Given the description of an element on the screen output the (x, y) to click on. 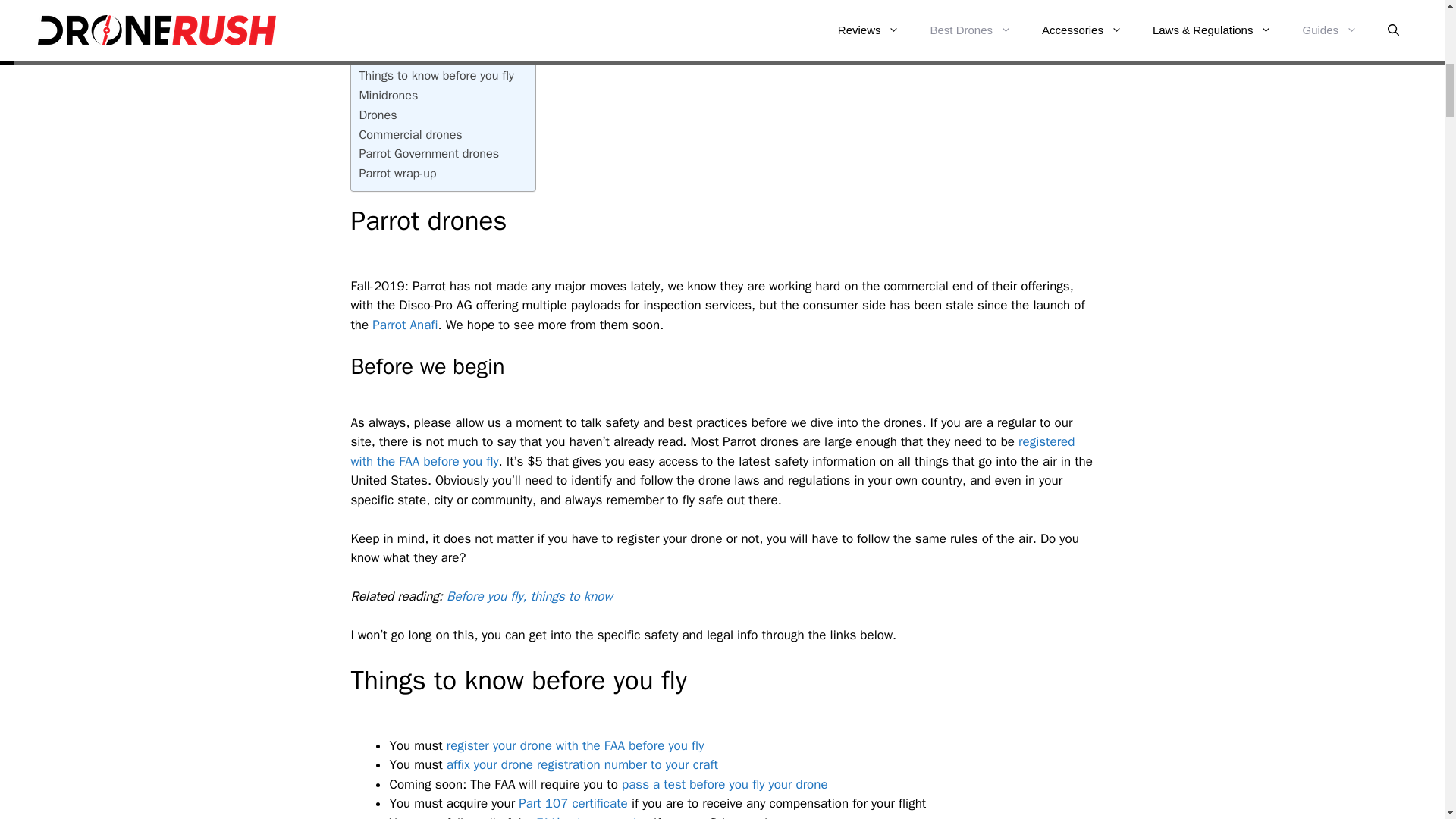
Parrot Government drones (428, 153)
Minidrones (387, 95)
Things to know before you fly (435, 75)
Drones (377, 115)
Commercial drones (409, 134)
Parrot wrap-up (396, 173)
Parrot drones (394, 55)
